Given the description of an element on the screen output the (x, y) to click on. 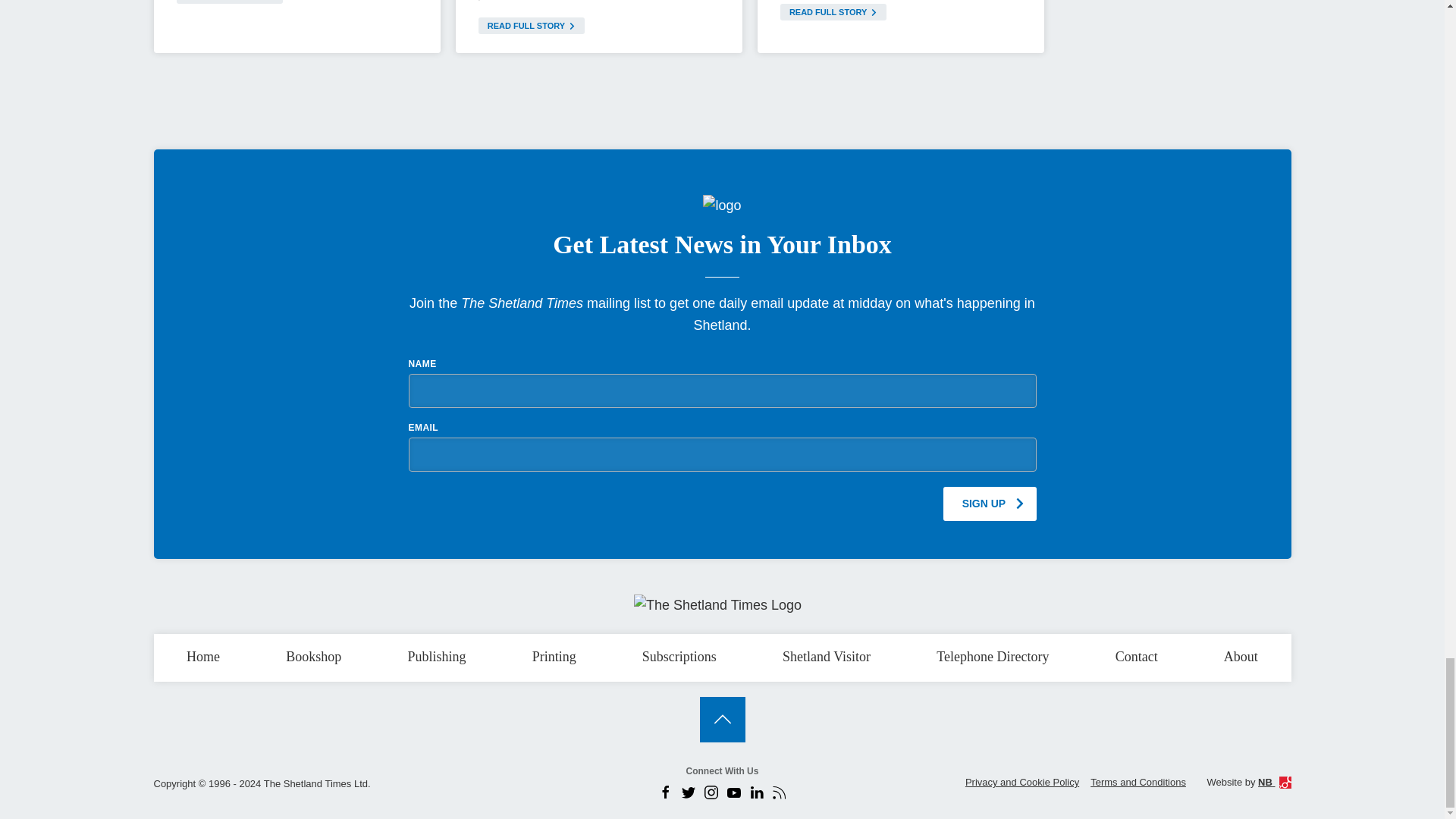
READ FULL STORY (532, 25)
READ FULL STORY (229, 2)
3 Comments (511, 1)
Shetland's website design and internet marketing specialists (1273, 781)
